Given the description of an element on the screen output the (x, y) to click on. 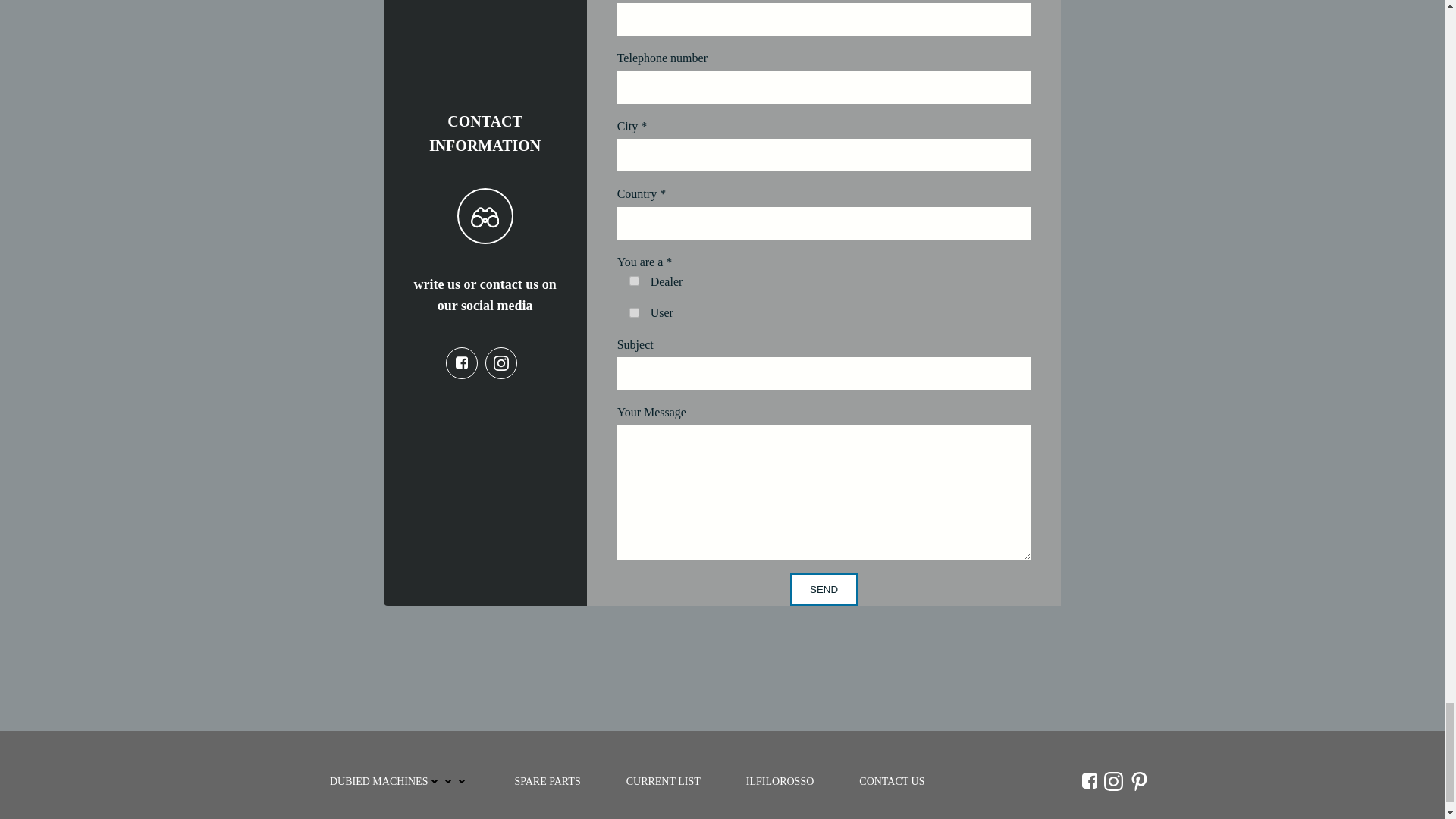
Dealer (633, 280)
User (633, 312)
Send (823, 589)
